Given the description of an element on the screen output the (x, y) to click on. 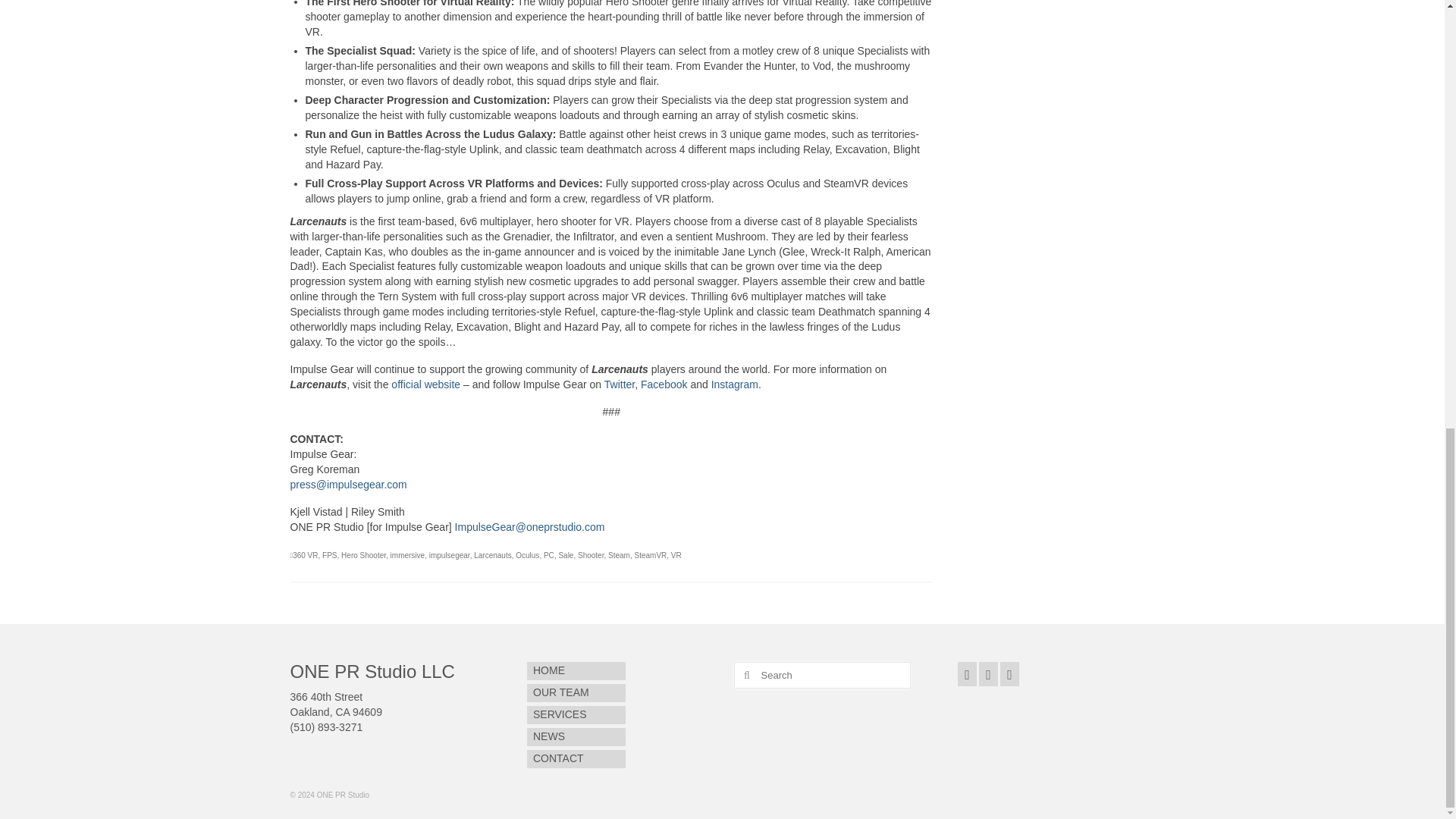
official website (425, 384)
Instagram (734, 384)
FPS (328, 555)
Twitter (619, 384)
Hero Shooter (362, 555)
immersive (407, 555)
impulsegear (449, 555)
Larcenauts (492, 555)
PC (548, 555)
360 VR (304, 555)
Facebook (663, 384)
Oculus (526, 555)
Sale (565, 555)
